Given the description of an element on the screen output the (x, y) to click on. 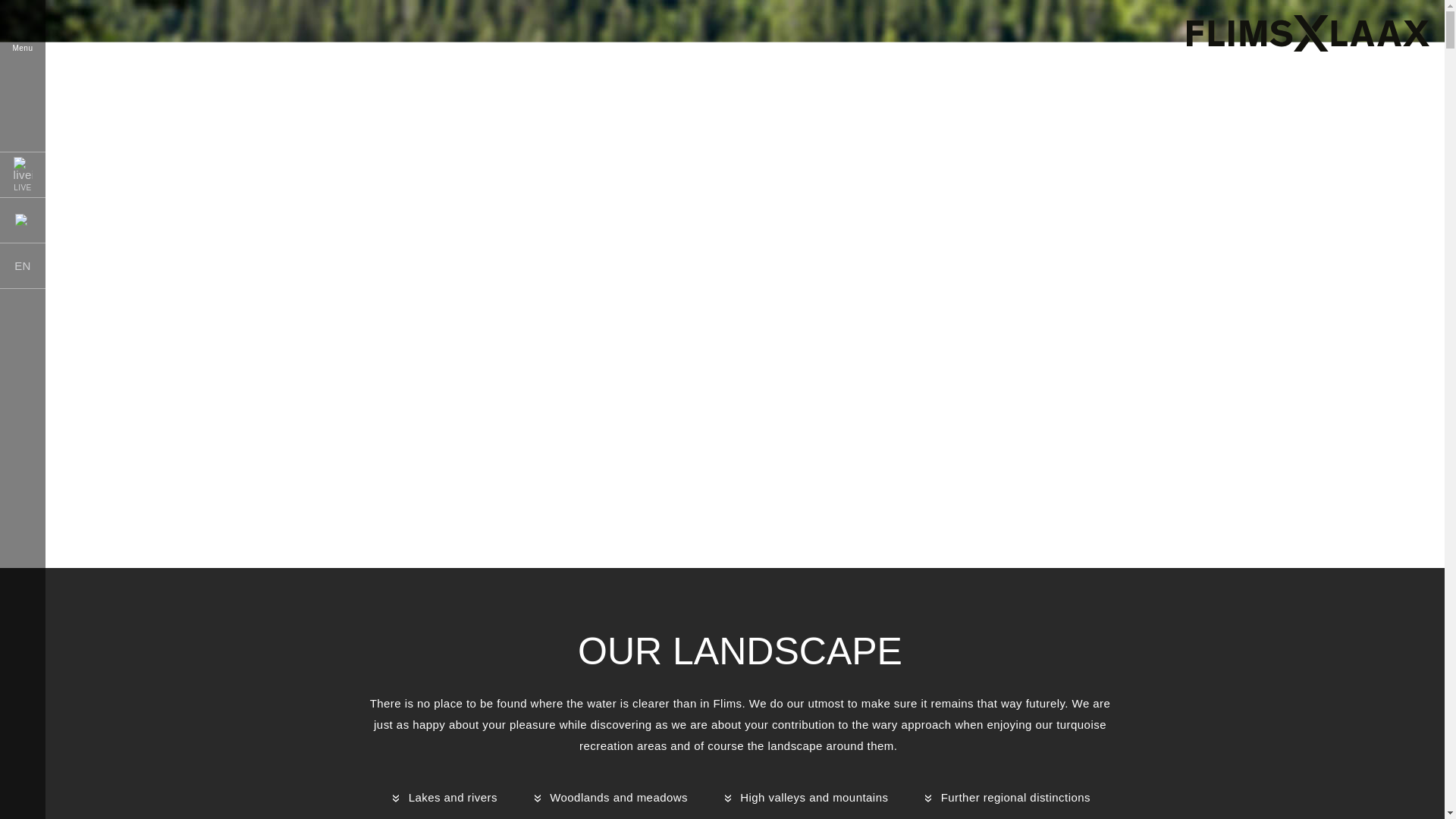
Menu (22, 37)
